Given the description of an element on the screen output the (x, y) to click on. 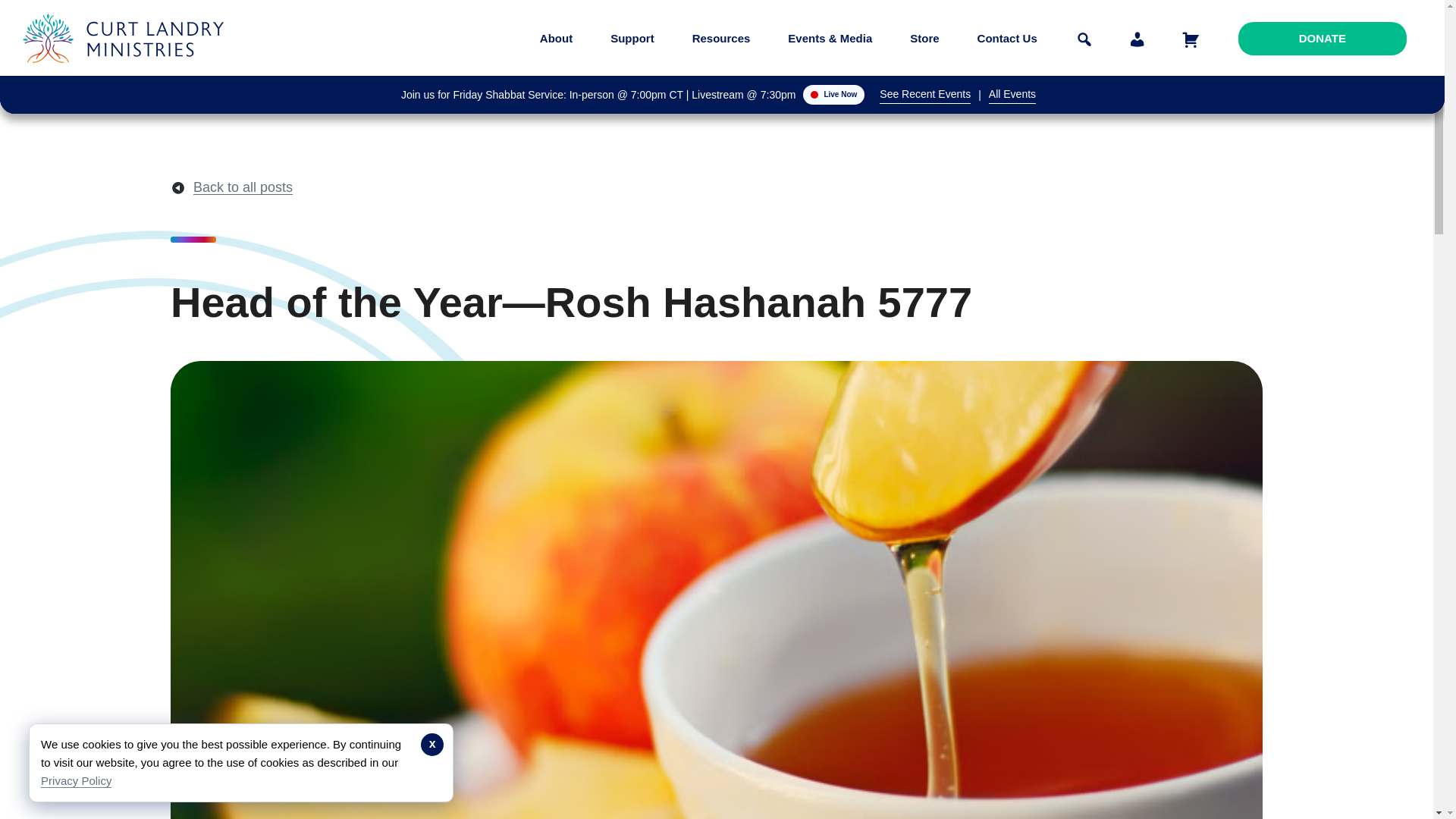
Support (631, 38)
Curt Landry Ministries (127, 74)
About (556, 38)
Store (924, 38)
Resources (721, 38)
